Given the description of an element on the screen output the (x, y) to click on. 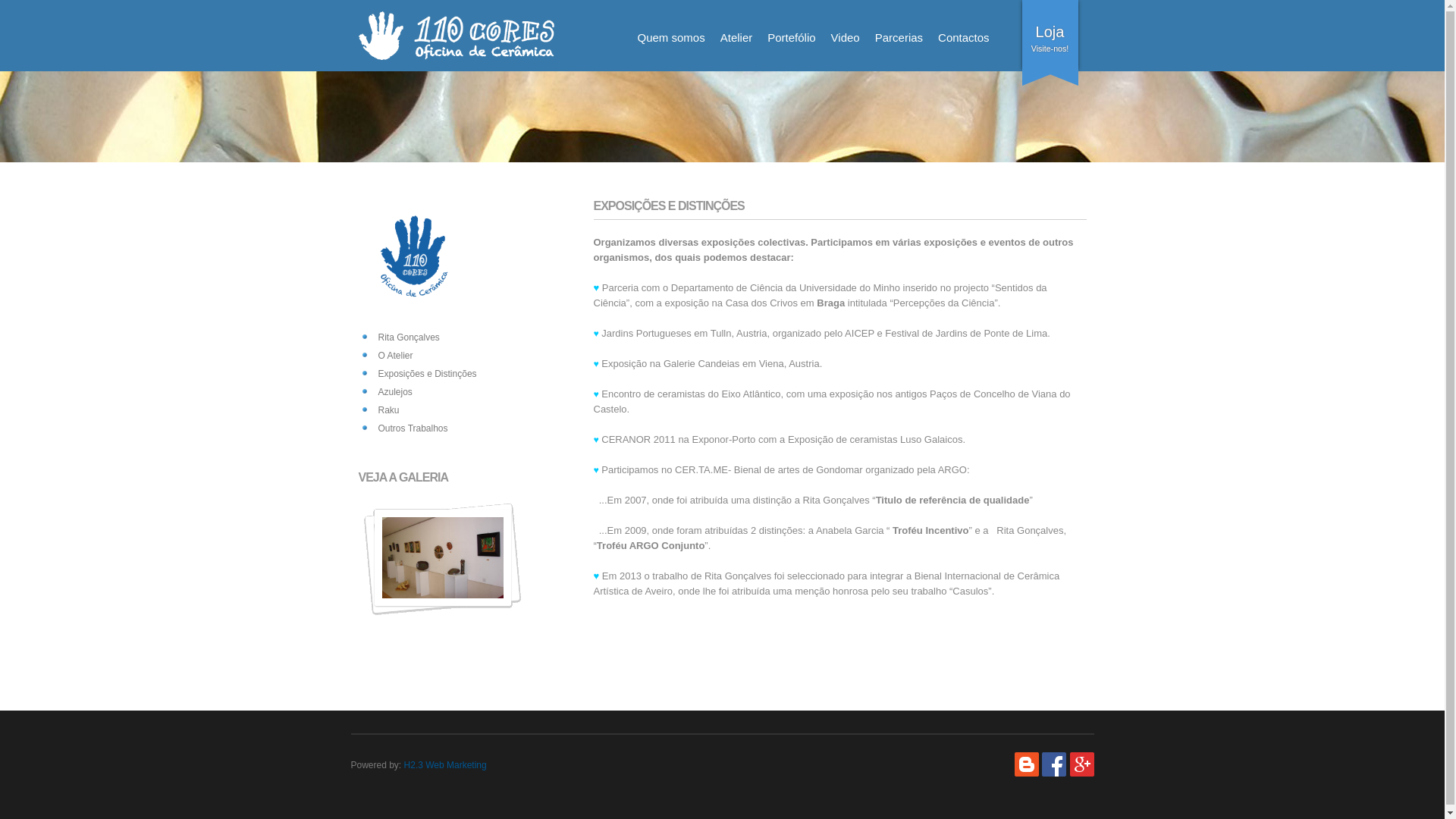
Video Element type: text (845, 42)
Contactos Element type: text (963, 42)
Loja Element type: text (1049, 31)
Quem somos Element type: text (670, 42)
Atelier Element type: text (736, 42)
Facebook Element type: hover (1053, 771)
Parcerias Element type: text (898, 42)
Raku Element type: text (377, 409)
Google + Element type: hover (1081, 771)
Facebook Element type: hover (1053, 764)
Azulejos Element type: text (384, 391)
O Atelier Element type: text (384, 355)
Blog Element type: hover (1026, 764)
Google + Element type: hover (1081, 764)
Outros Trabalhos Element type: text (402, 428)
H2.3 Web Marketing Element type: text (445, 764)
